Given the description of an element on the screen output the (x, y) to click on. 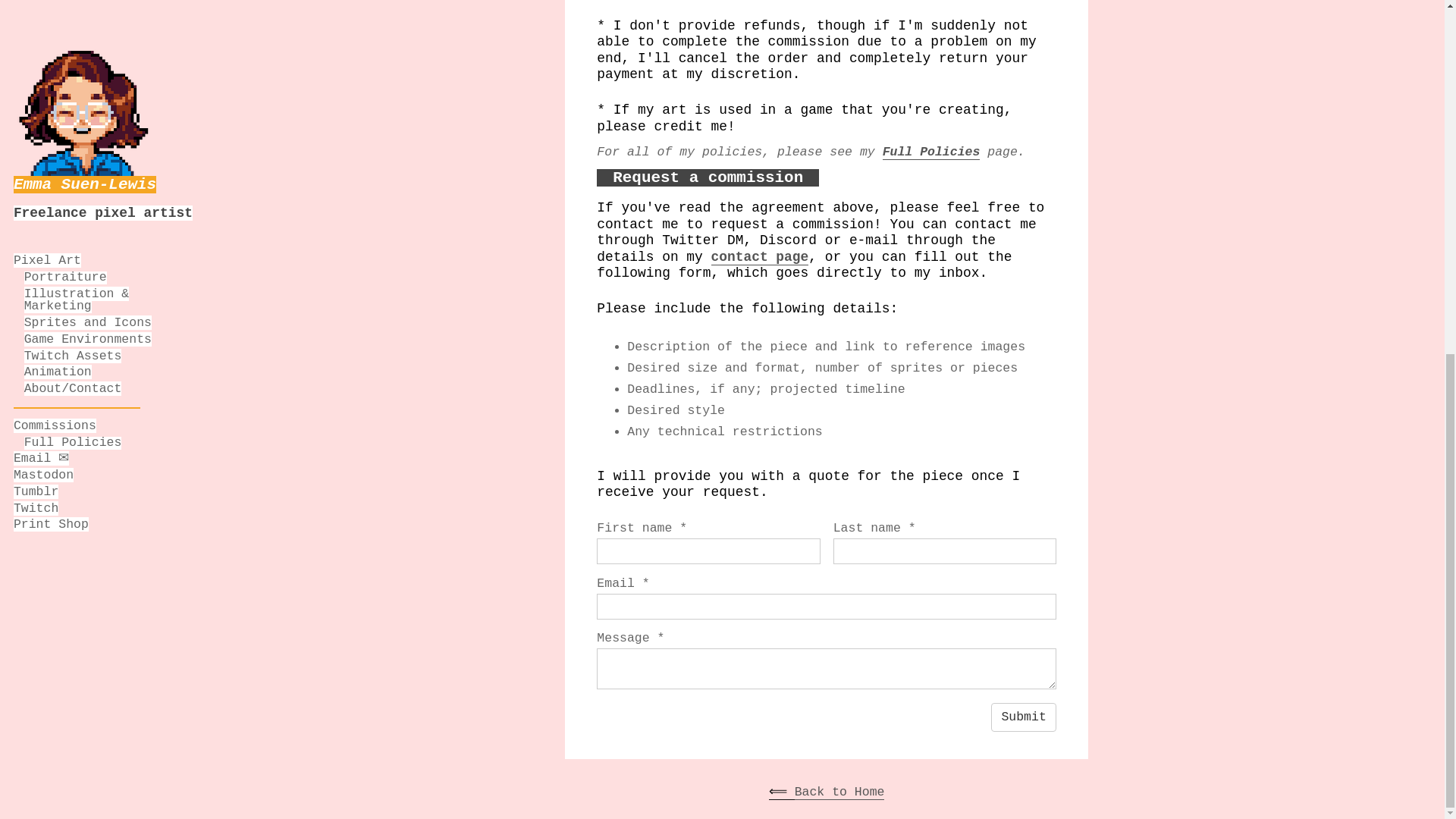
Submit (1023, 717)
Back to Home (839, 792)
Full Policies (930, 151)
contact page (760, 257)
